Given the description of an element on the screen output the (x, y) to click on. 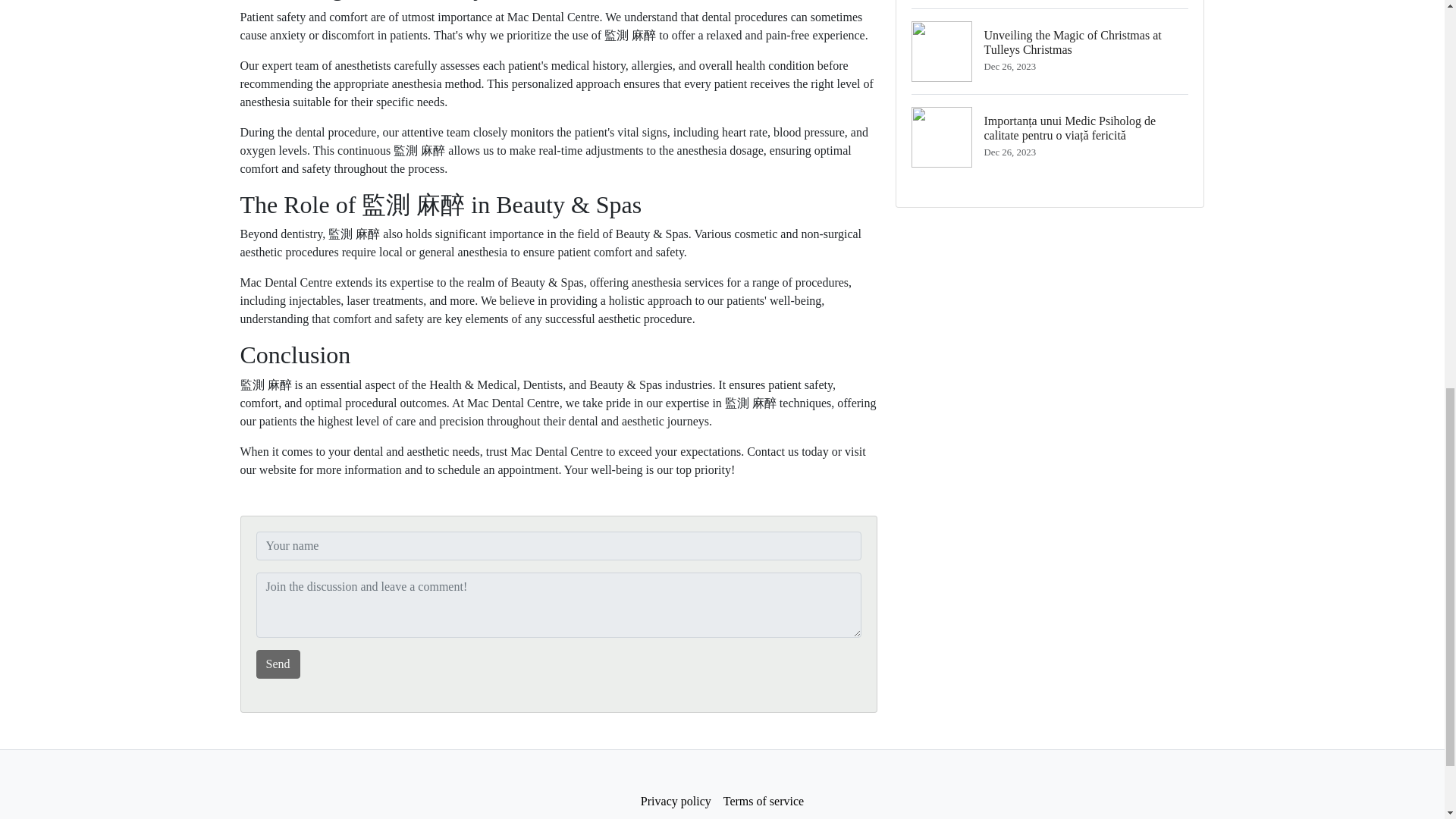
Send (277, 664)
Privacy policy (675, 801)
Terms of service (763, 801)
Send (277, 664)
